Given the description of an element on the screen output the (x, y) to click on. 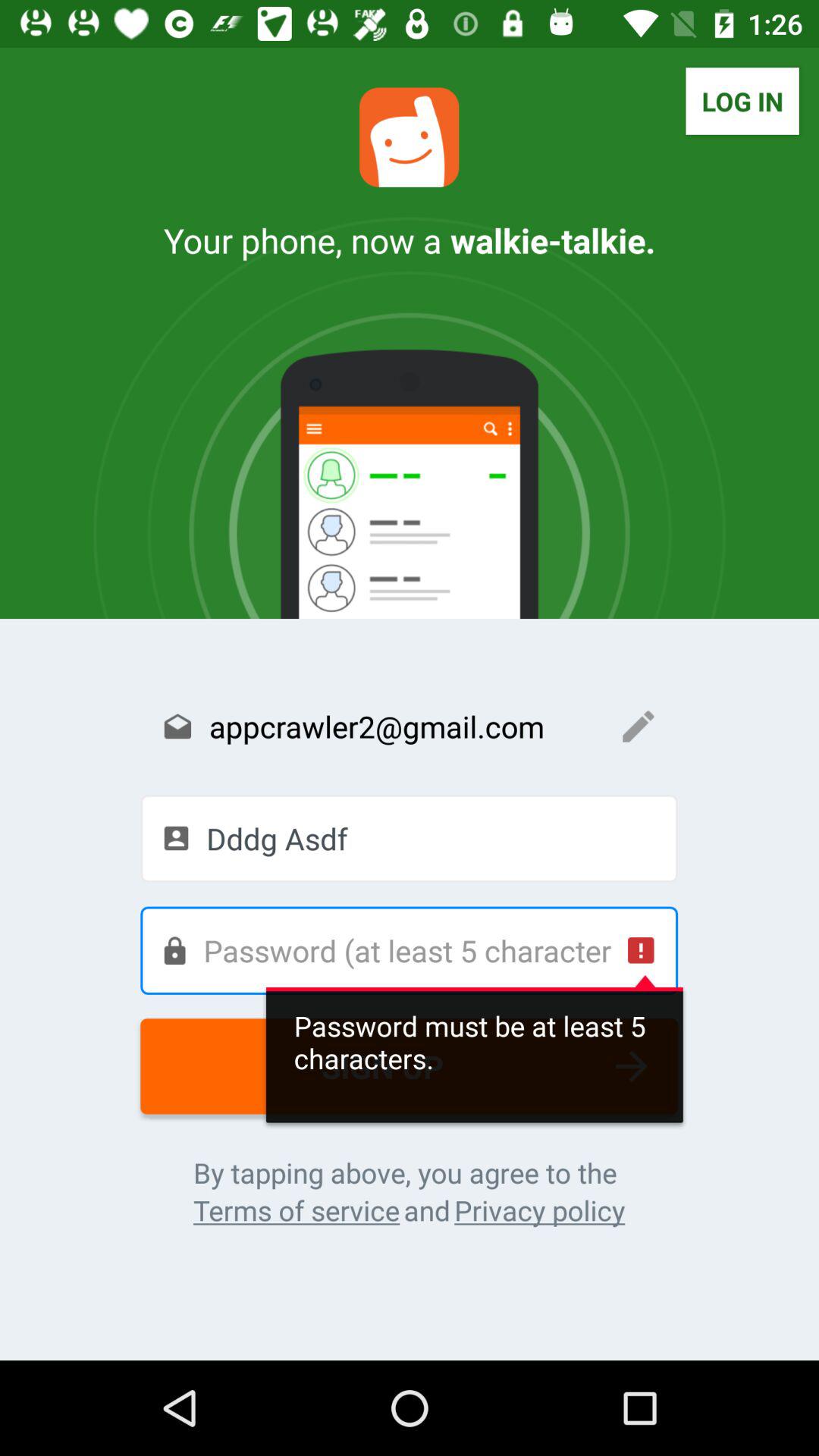
swipe to log in icon (742, 100)
